Given the description of an element on the screen output the (x, y) to click on. 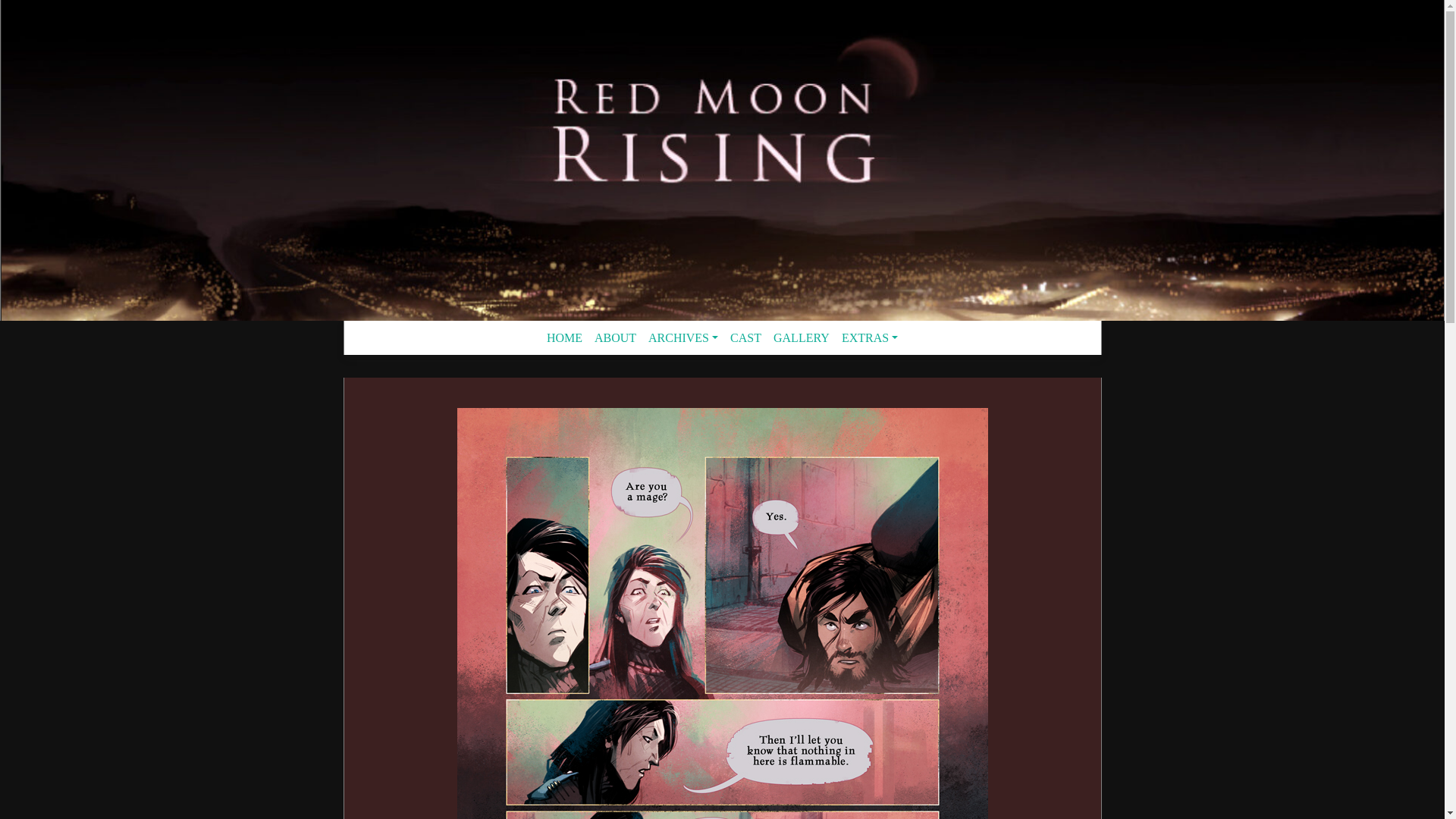
GALLERY (801, 337)
ABOUT (615, 337)
ARCHIVES (682, 337)
Cast (745, 337)
Home (564, 337)
Archives (682, 337)
EXTRAS (869, 337)
HOME (564, 337)
About (615, 337)
